Given the description of an element on the screen output the (x, y) to click on. 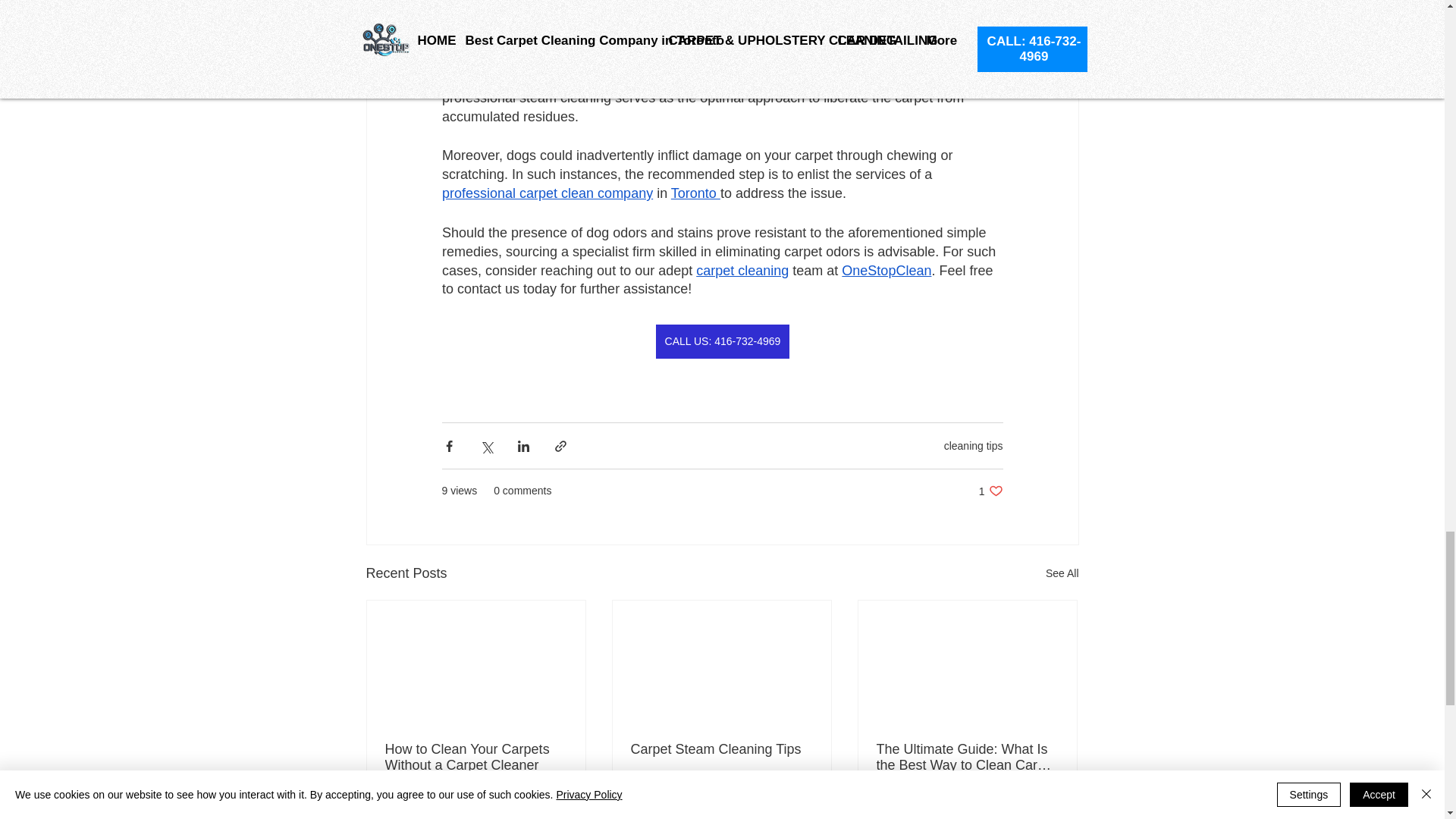
CALL US: 416-732-4969 (722, 341)
carpet cleaning (742, 270)
0 (681, 810)
Carpet Steam Cleaning Tips (721, 749)
0 (435, 810)
professional carpet clean company (546, 192)
Toronto  (694, 192)
See All (1061, 573)
How to Clean Your Carpets Without a Carpet Cleaner (476, 757)
cleaning tips (973, 445)
